Given the description of an element on the screen output the (x, y) to click on. 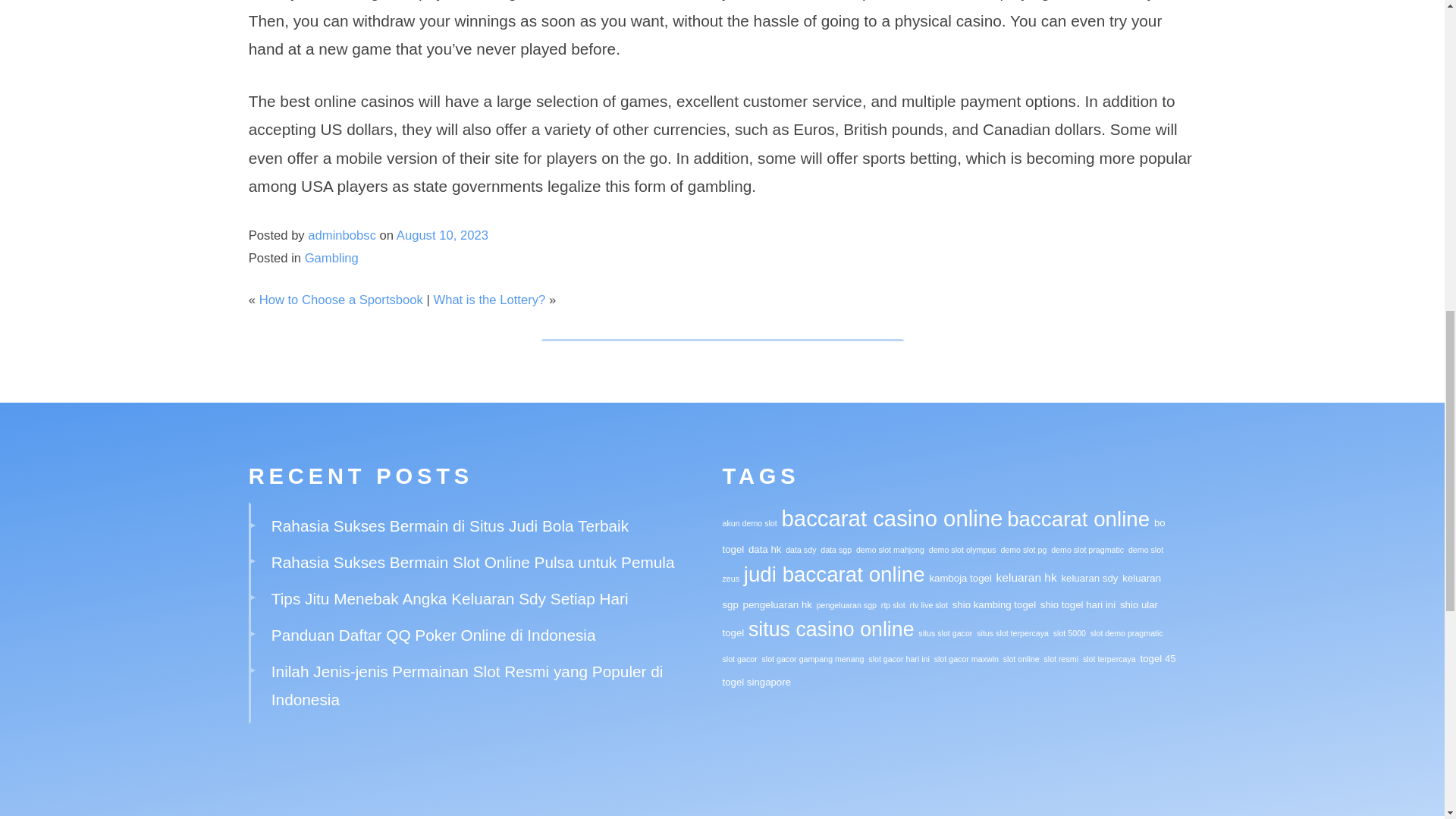
demo slot mahjong (890, 549)
baccarat casino online (892, 518)
shio togel hari ini (1078, 604)
Rahasia Sukses Bermain di Situs Judi Bola Terbaik (449, 525)
shio kambing togel (993, 604)
adminbobsc (341, 235)
rtp slot (892, 604)
keluaran hk (1026, 576)
situs casino online (831, 629)
